Given the description of an element on the screen output the (x, y) to click on. 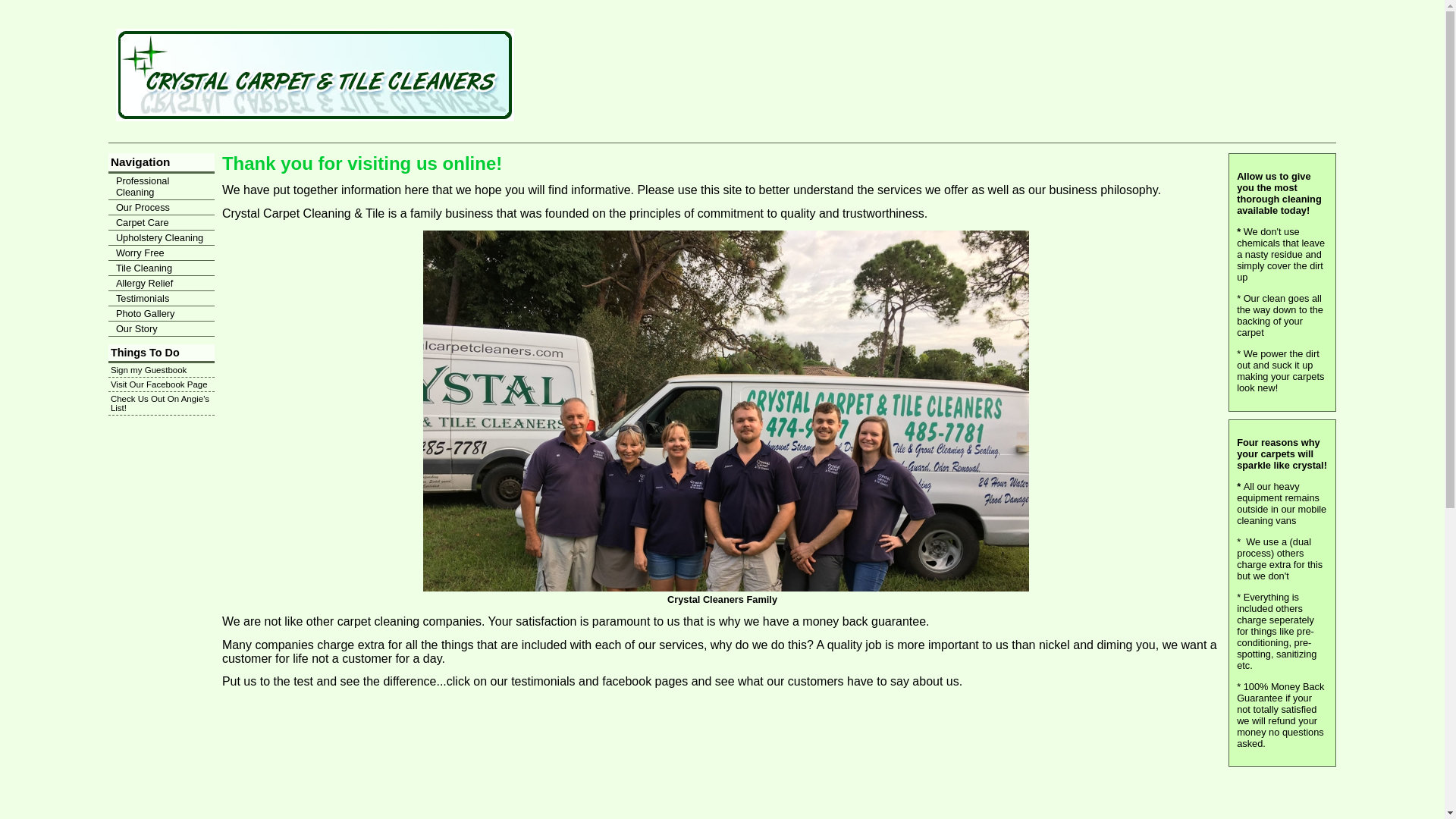
Our Story (160, 328)
Worry Free (160, 253)
Upholstery Cleaning (160, 237)
Testimonials (160, 298)
Check Us Out On Angie's List! (160, 403)
Tile Cleaning (160, 268)
Visit Our Facebook Page (160, 384)
Sign my Guestbook (160, 370)
Allergy Relief (160, 283)
Professional Cleaning (160, 186)
